Given the description of an element on the screen output the (x, y) to click on. 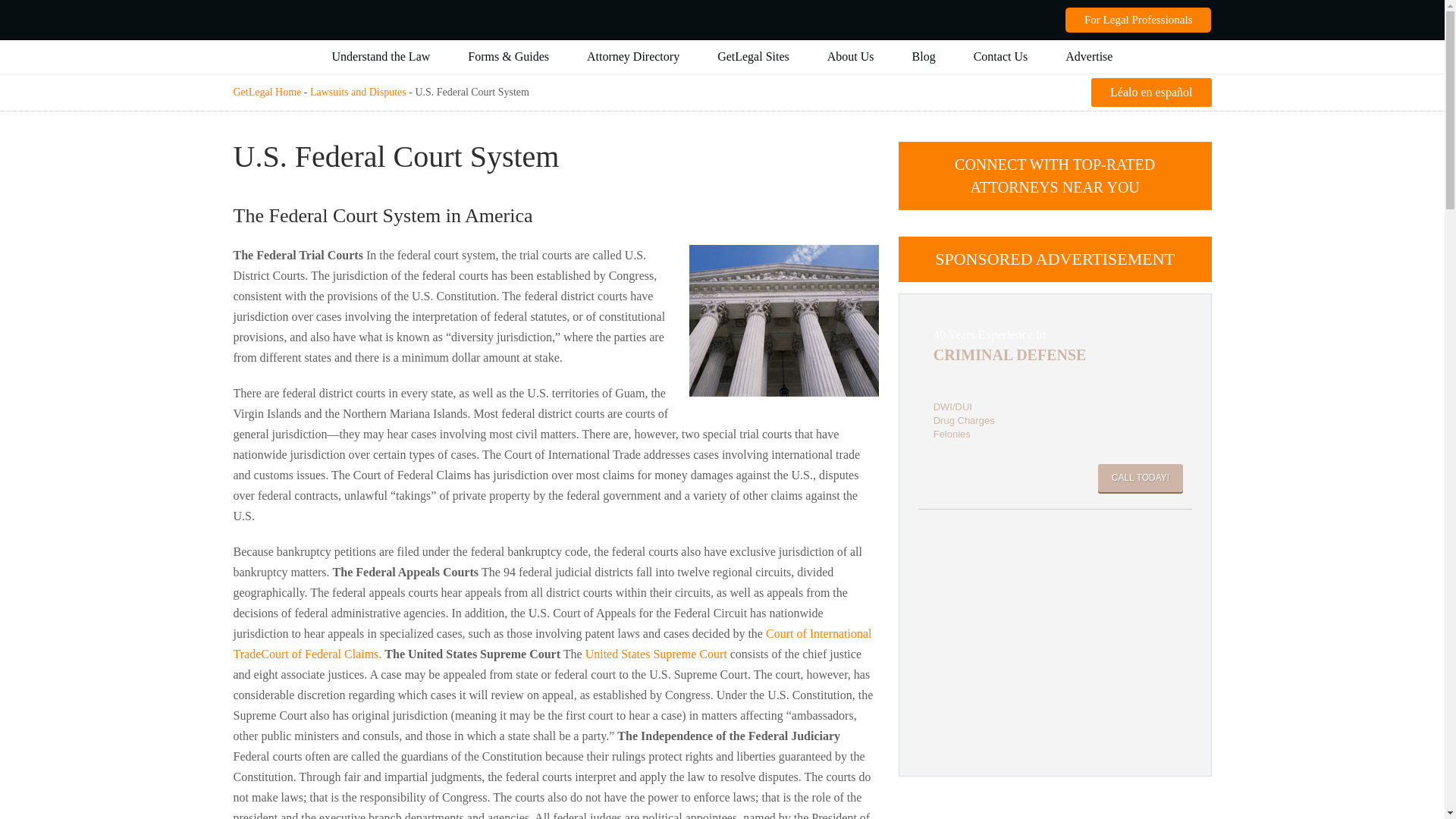
Contact Us (1000, 56)
For Legal Professionals (1138, 19)
Court of International TradeCourt of Federal Claims. (552, 643)
GetLegal Home (266, 91)
Attorney Directory (632, 56)
Contact Us (1000, 56)
GetLegal Sites (1055, 410)
Understand the Law (753, 56)
About Us (380, 56)
Lawsuits and Disputes (851, 56)
Advertise (358, 91)
GetLegal Sites (1088, 56)
Advertise (753, 56)
About Us (1088, 56)
